Given the description of an element on the screen output the (x, y) to click on. 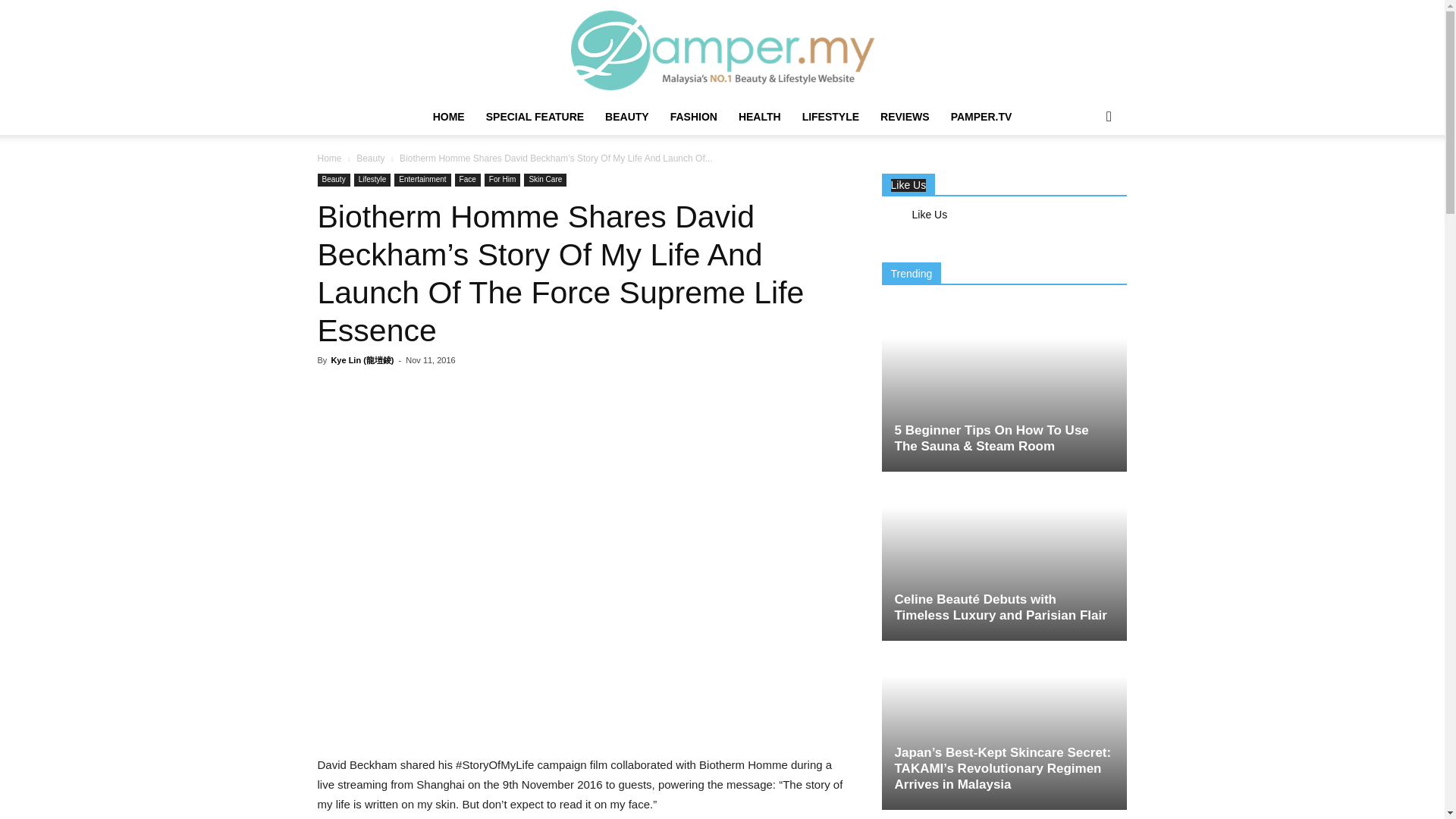
SPECIAL FEATURE (535, 116)
HOME (449, 116)
View all posts in Beauty (370, 158)
Pamper.My (721, 50)
